Given the description of an element on the screen output the (x, y) to click on. 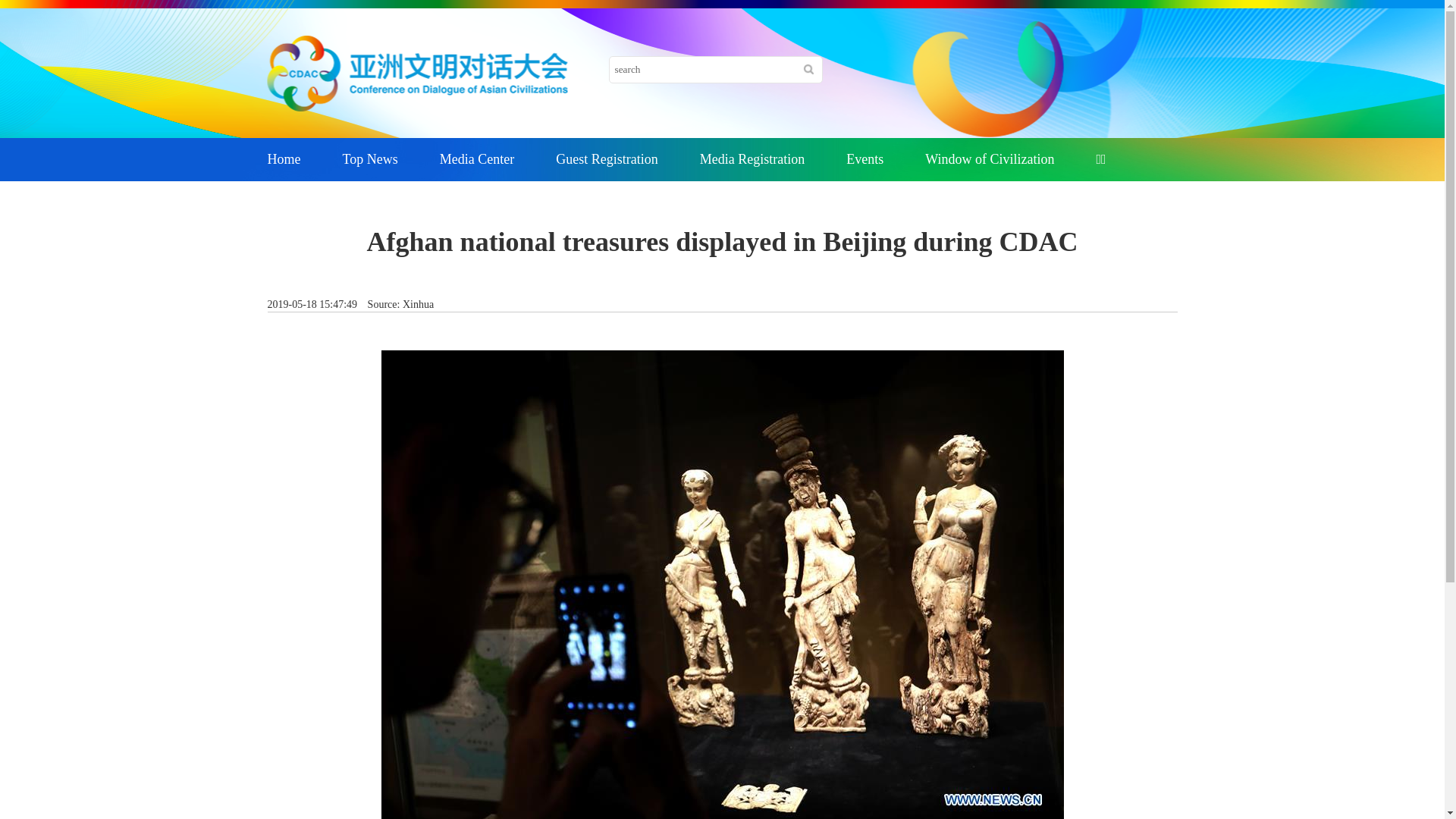
Window of Civilization Element type: text (989, 158)
Events Element type: text (864, 158)
Media Registration Element type: text (751, 158)
Top News Element type: text (370, 158)
Guest Registration Element type: text (606, 158)
Home Element type: text (283, 158)
